Given the description of an element on the screen output the (x, y) to click on. 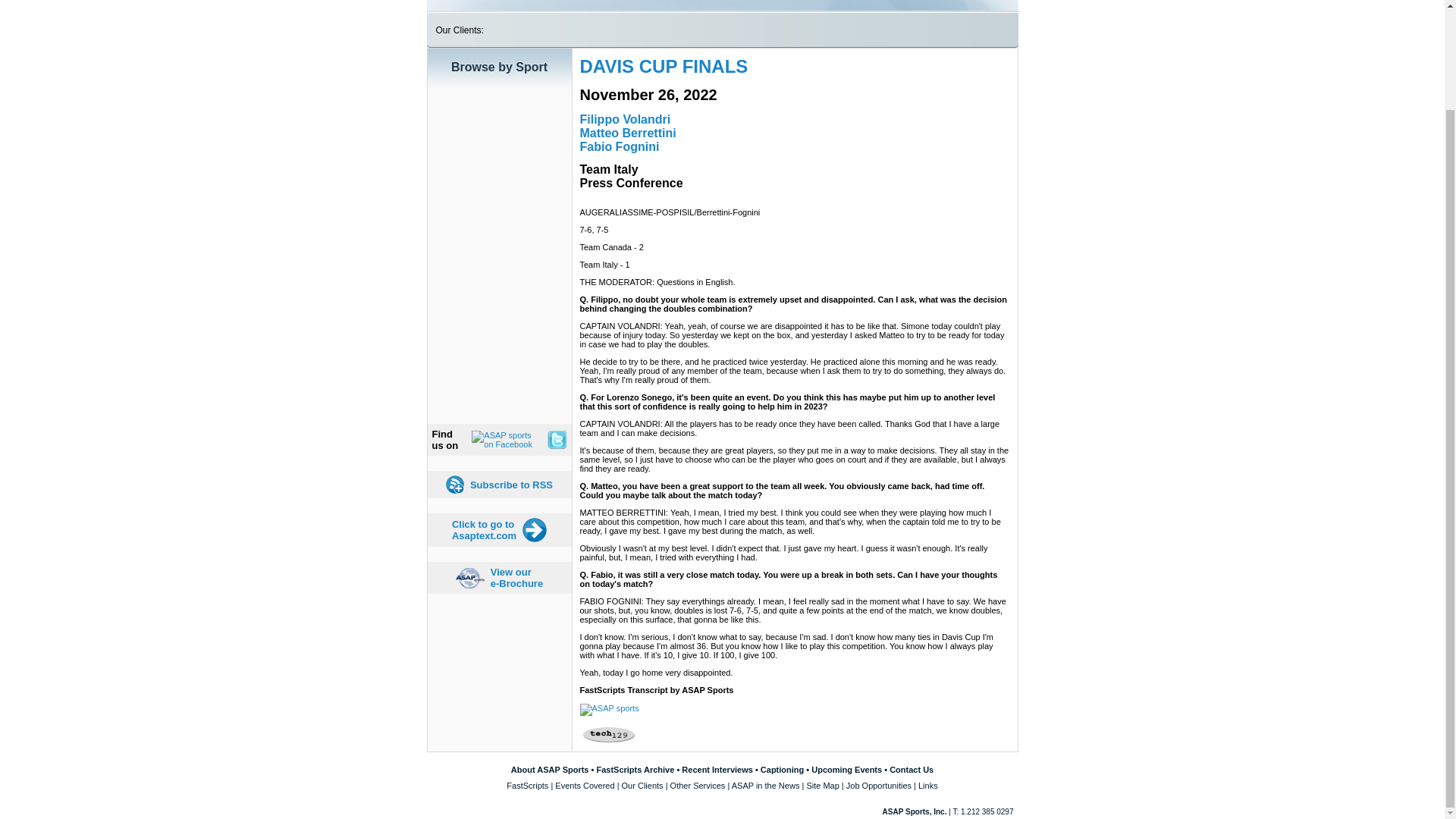
Filippo Volandri (624, 119)
Subscribe to RSS (511, 484)
About ASAP Sports (550, 768)
DAVIS CUP FINALS (663, 66)
Matteo Berrettini (483, 529)
Fabio Fognini (627, 132)
